Given the description of an element on the screen output the (x, y) to click on. 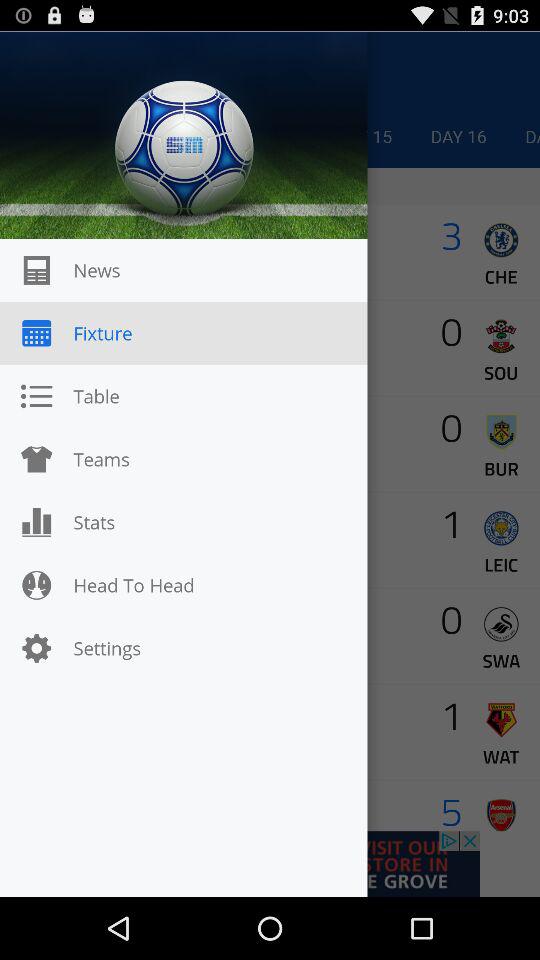
select the flag at the right bottom of the page (500, 814)
select the icon which is before head to head on page (36, 585)
click on the settings symbol which is  below head to head symbol (36, 648)
select the icon which is above che (500, 240)
select the icon which is before news on page (36, 270)
select the icon which is before stats (36, 521)
